Given the description of an element on the screen output the (x, y) to click on. 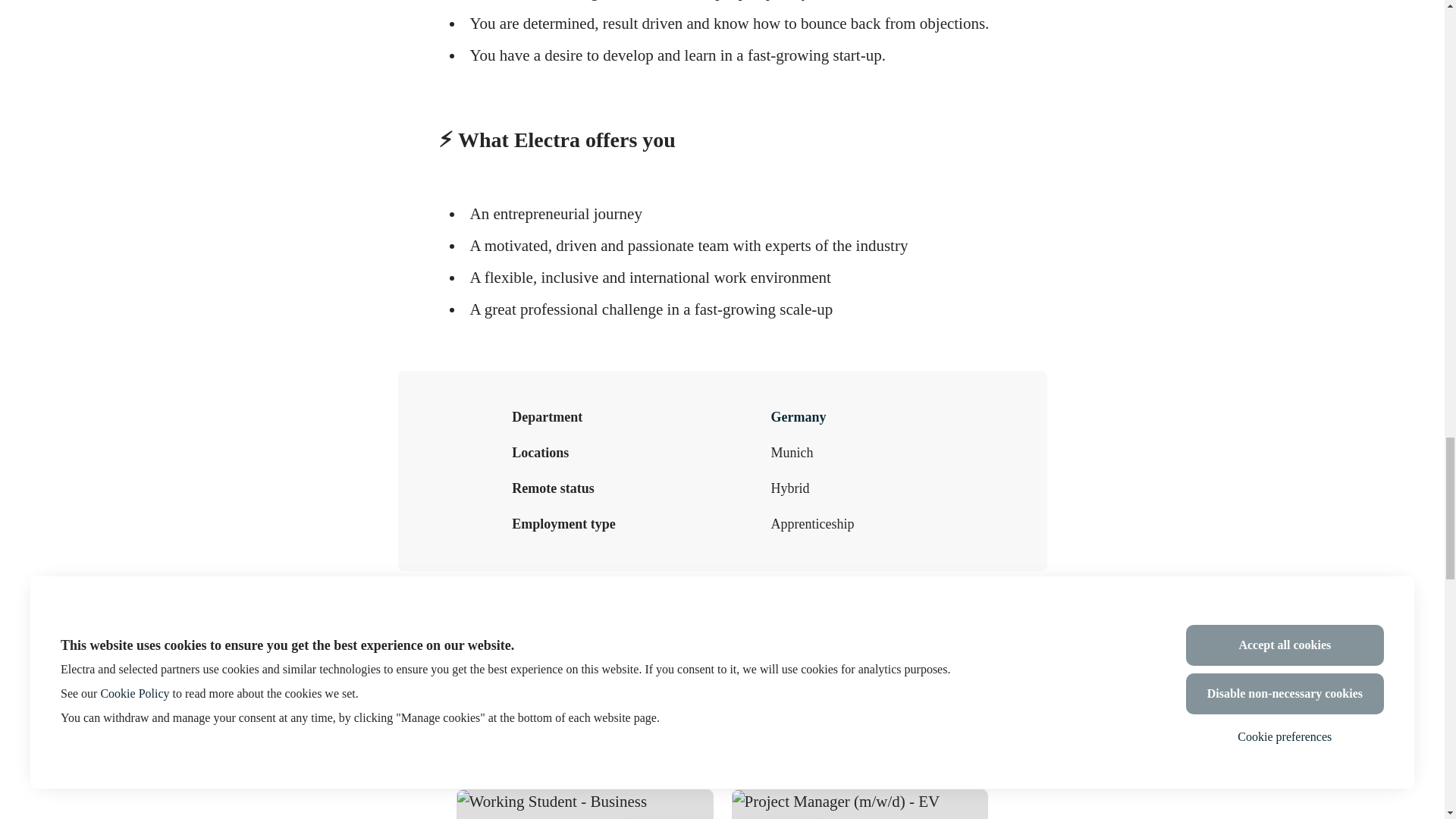
Germany (797, 417)
